Given the description of an element on the screen output the (x, y) to click on. 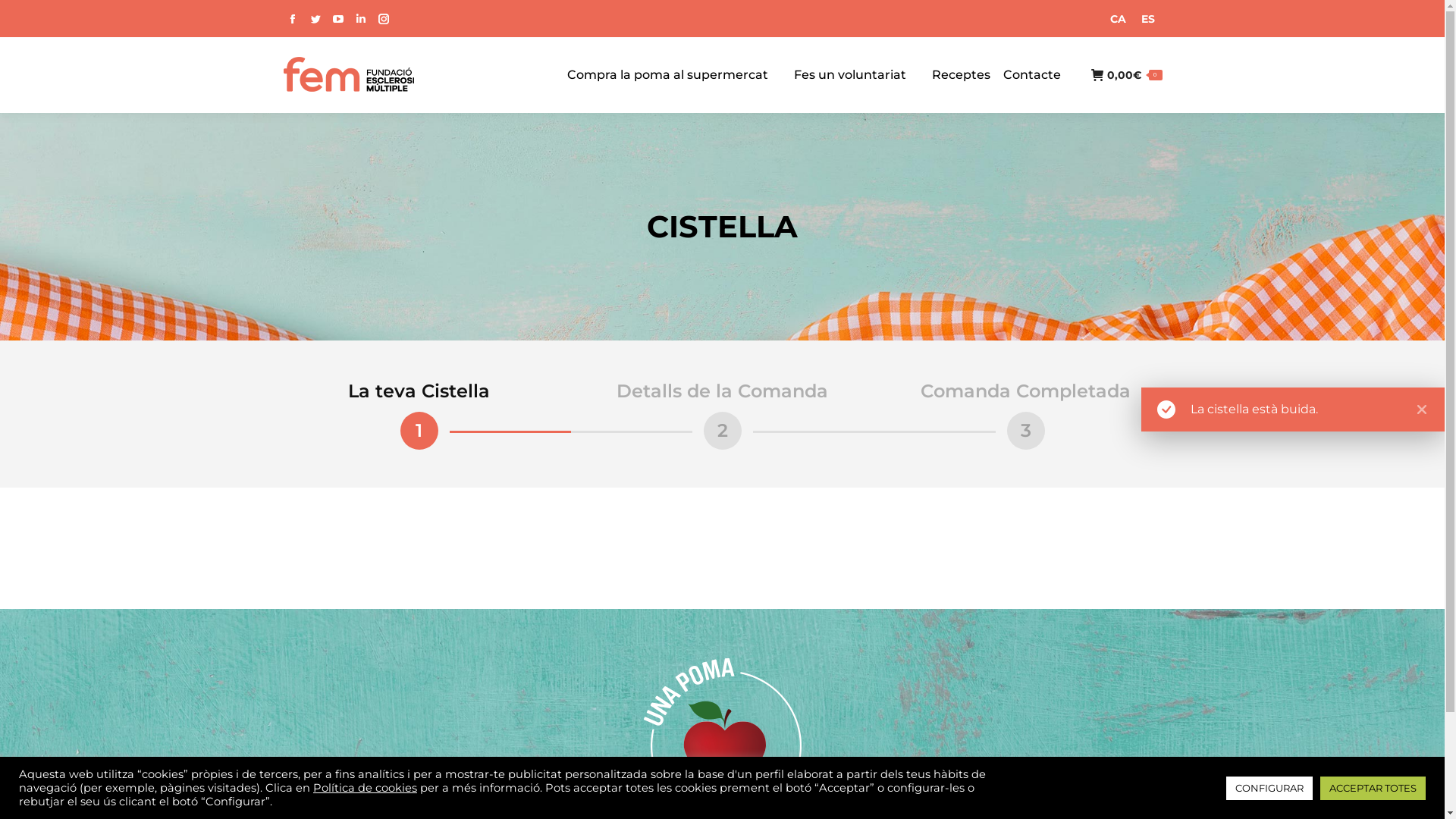
Twitter page opens in new window Element type: text (314, 18)
CONFIGURAR Element type: text (1269, 788)
Facebook page opens in new window Element type: text (291, 18)
Detalls de la Comanda
2 Element type: text (721, 413)
Comanda Completada
3 Element type: text (1024, 413)
Contacte Element type: text (1031, 74)
YouTube page opens in new window Element type: text (337, 18)
Linkedin page opens in new window Element type: text (360, 18)
Compra la poma al supermercat Element type: text (667, 74)
CA Element type: text (1117, 18)
Fes un voluntariat Element type: text (849, 74)
ES Element type: text (1146, 18)
Receptes Element type: text (960, 74)
La teva Cistella
1 Element type: text (418, 413)
ACCEPTAR TOTES Element type: text (1372, 788)
Instagram page opens in new window Element type: text (382, 18)
